Given the description of an element on the screen output the (x, y) to click on. 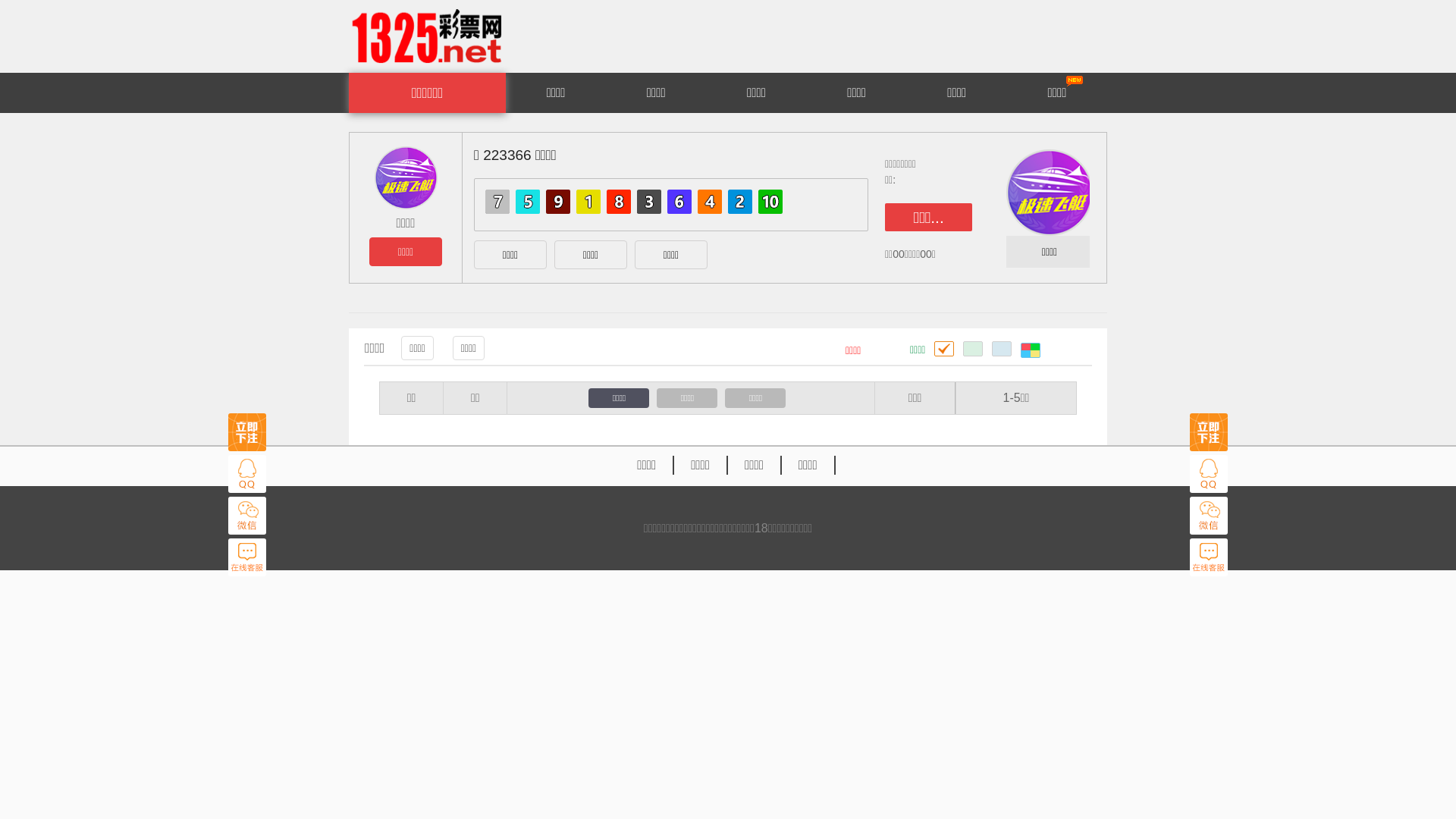
  Element type: text (1030, 349)
